Given the description of an element on the screen output the (x, y) to click on. 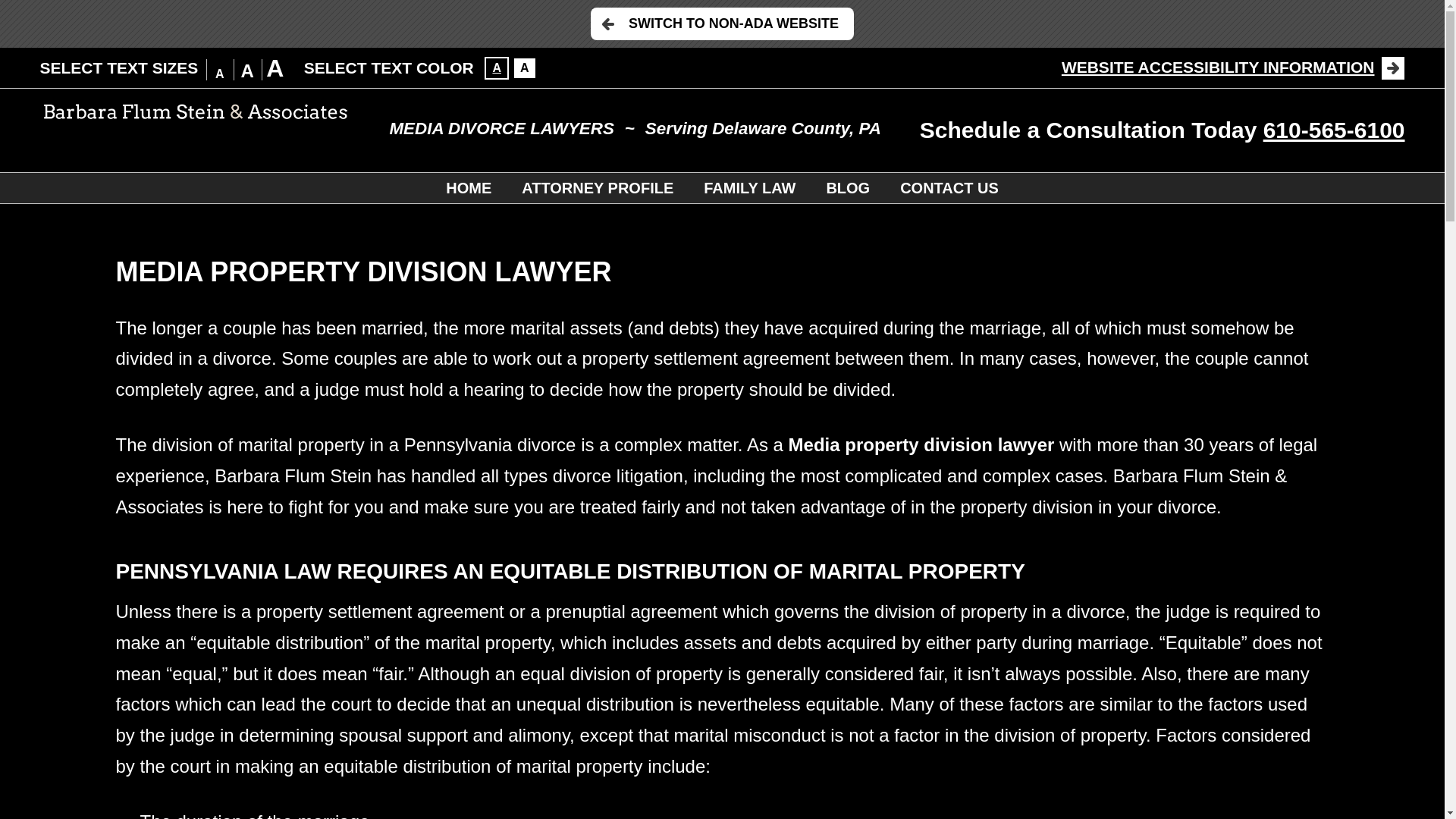
CONTACT US (949, 187)
610-565-6100 (1334, 129)
ATTORNEY PROFILE (597, 187)
SWITCH TO NON-ADA WEBSITE (722, 23)
Invert Colors (496, 67)
A (524, 67)
HOME (468, 187)
Invert Colors (524, 67)
Click to view external accessibility article (1233, 67)
A (496, 67)
BLOG (847, 187)
WEBSITE ACCESSIBILITY INFORMATION (1233, 67)
FAMILY LAW (749, 187)
